Given the description of an element on the screen output the (x, y) to click on. 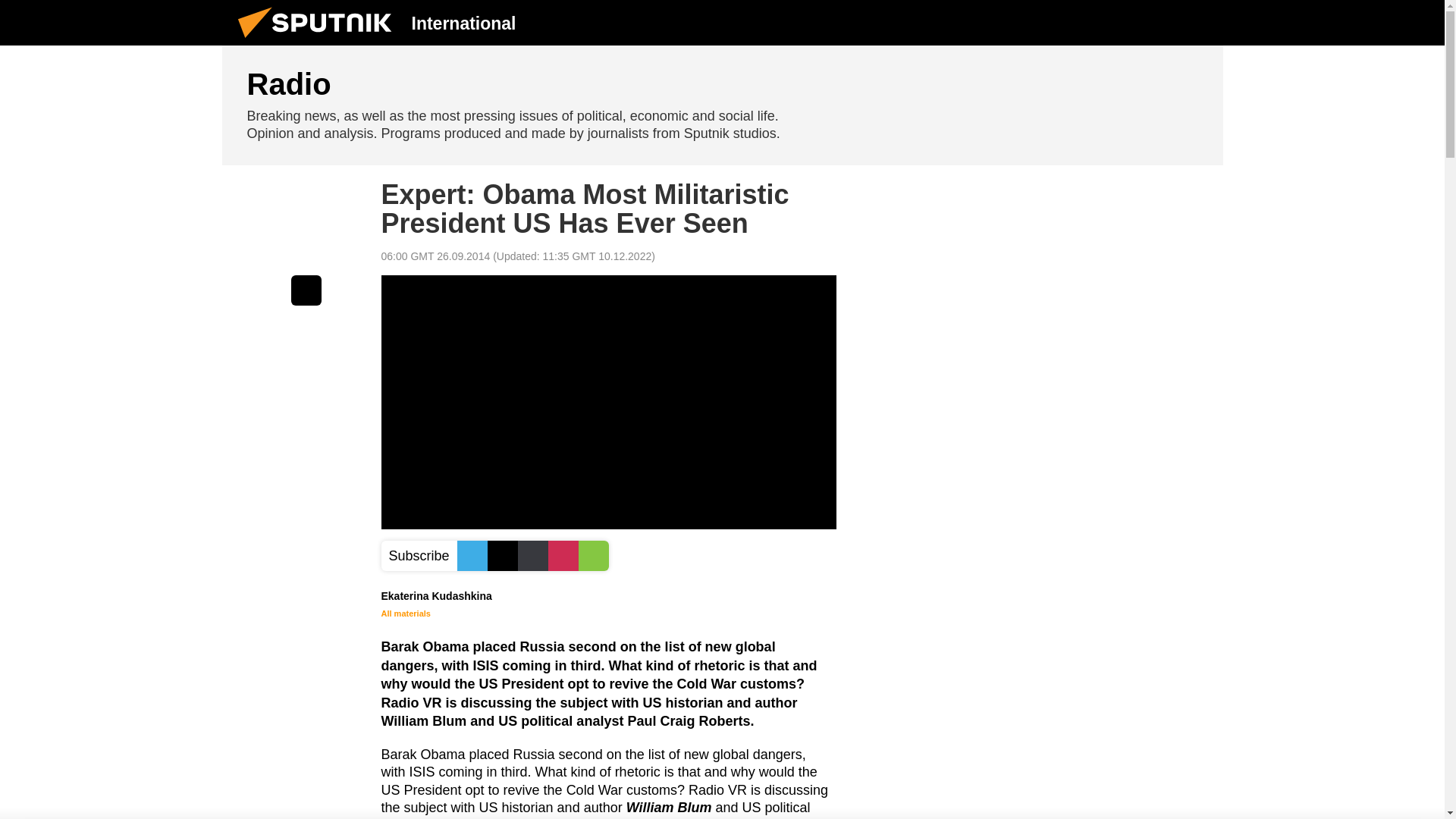
Chats (1199, 22)
Authorization (1123, 22)
Sputnik International (319, 41)
Radio (722, 105)
